Given the description of an element on the screen output the (x, y) to click on. 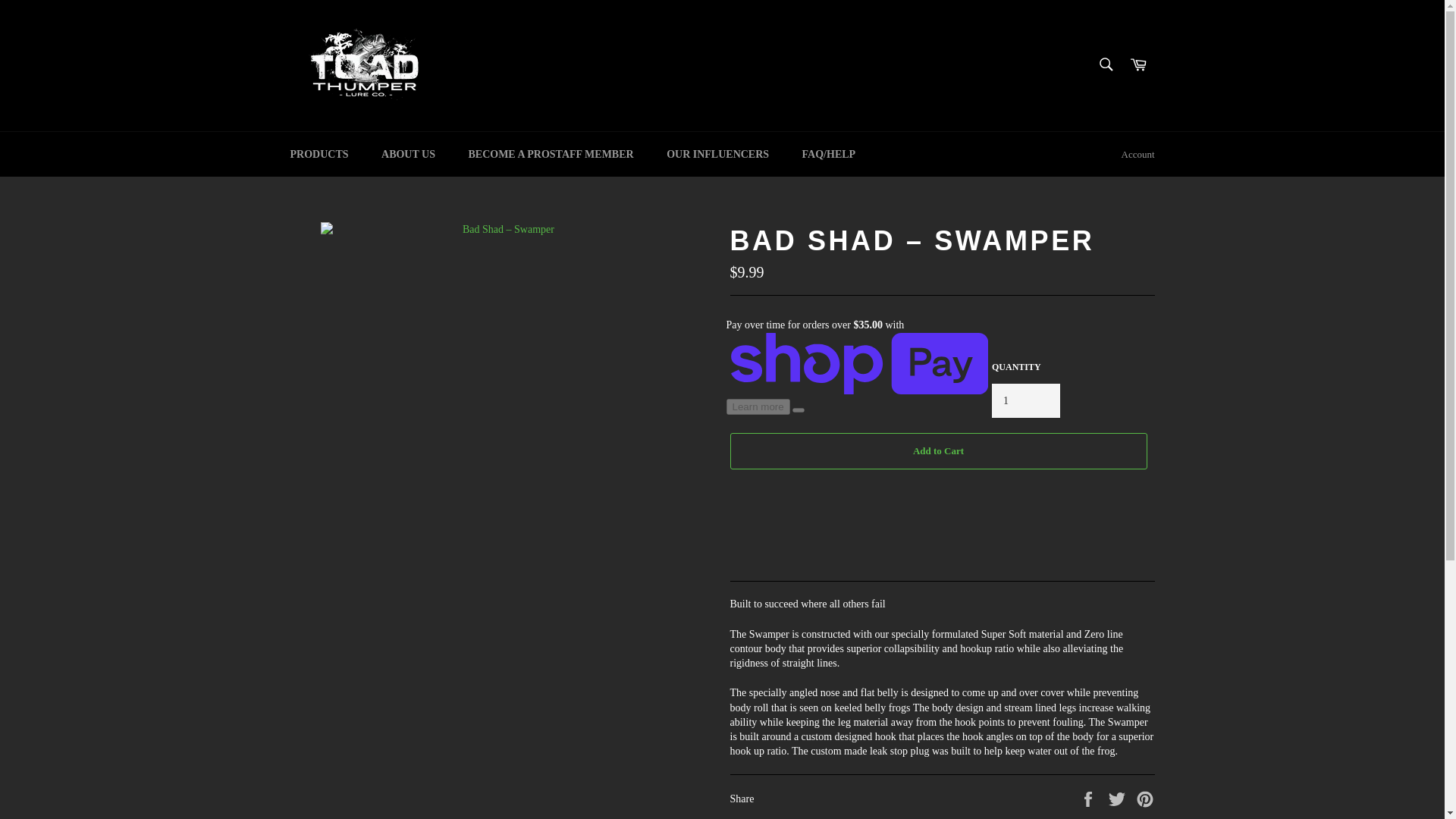
Tweet on Twitter (1118, 797)
Share on Facebook (1089, 797)
Search (1104, 64)
OUR INFLUENCERS (717, 153)
Account (1137, 154)
BECOME A PROSTAFF MEMBER (549, 153)
Cart (1138, 65)
Tweet on Twitter (1118, 797)
ABOUT US (407, 153)
Pin on Pinterest (1144, 797)
1 (1025, 400)
Share on Facebook (1089, 797)
Pin on Pinterest (1144, 797)
PRODUCTS (318, 153)
Add to Cart (938, 451)
